Given the description of an element on the screen output the (x, y) to click on. 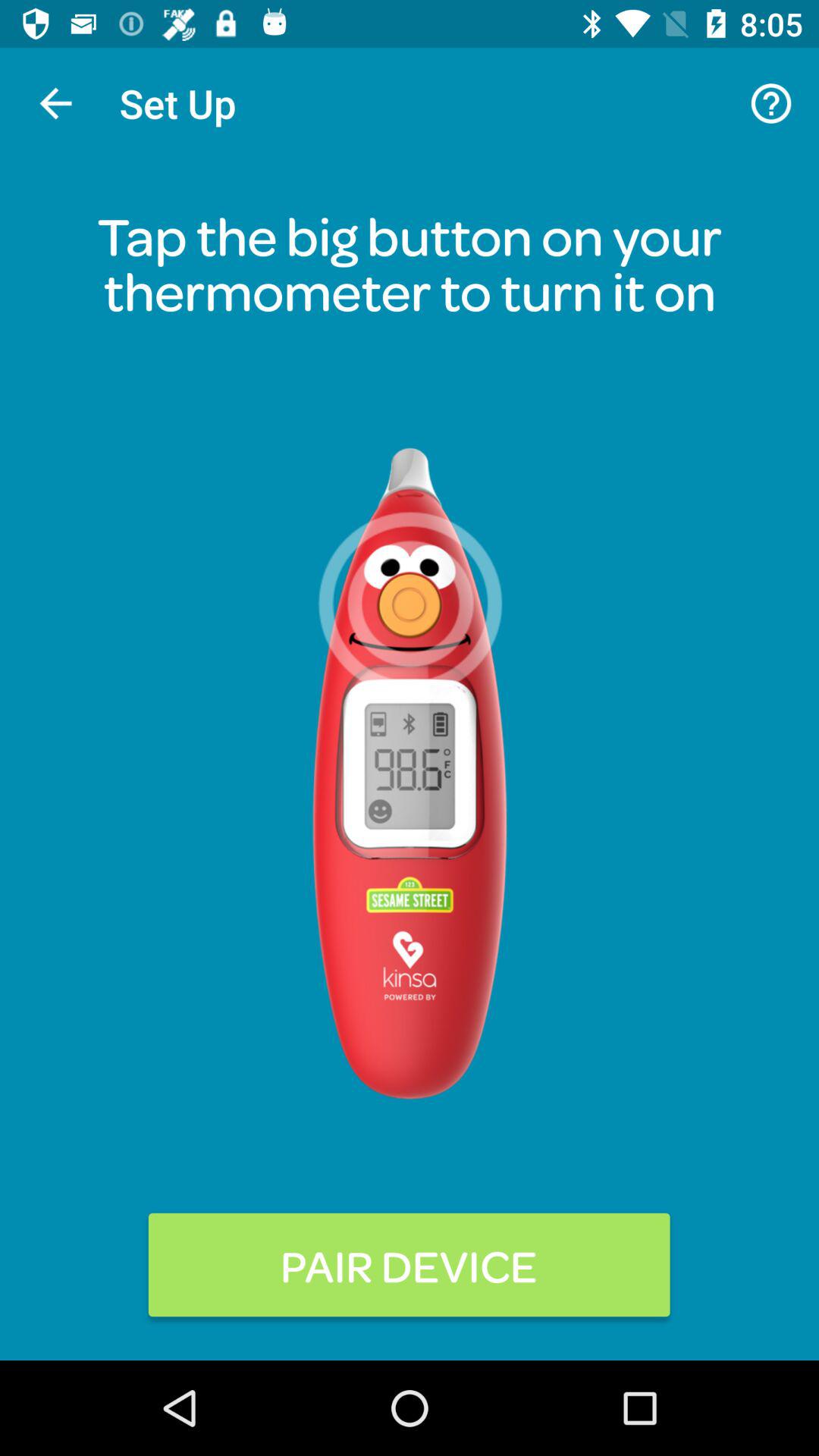
open icon at the top right corner (771, 103)
